Given the description of an element on the screen output the (x, y) to click on. 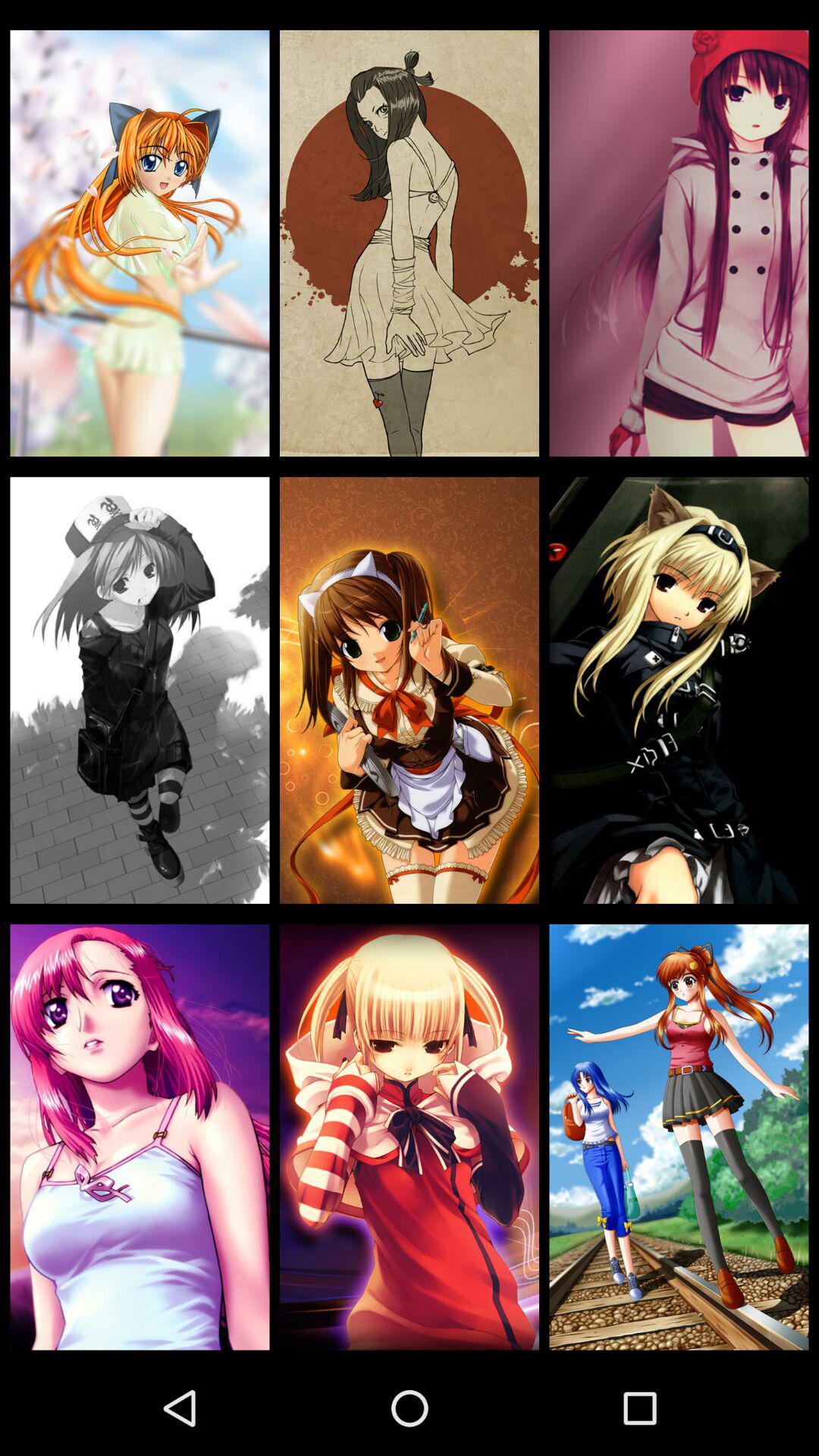
select image (409, 1137)
